Given the description of an element on the screen output the (x, y) to click on. 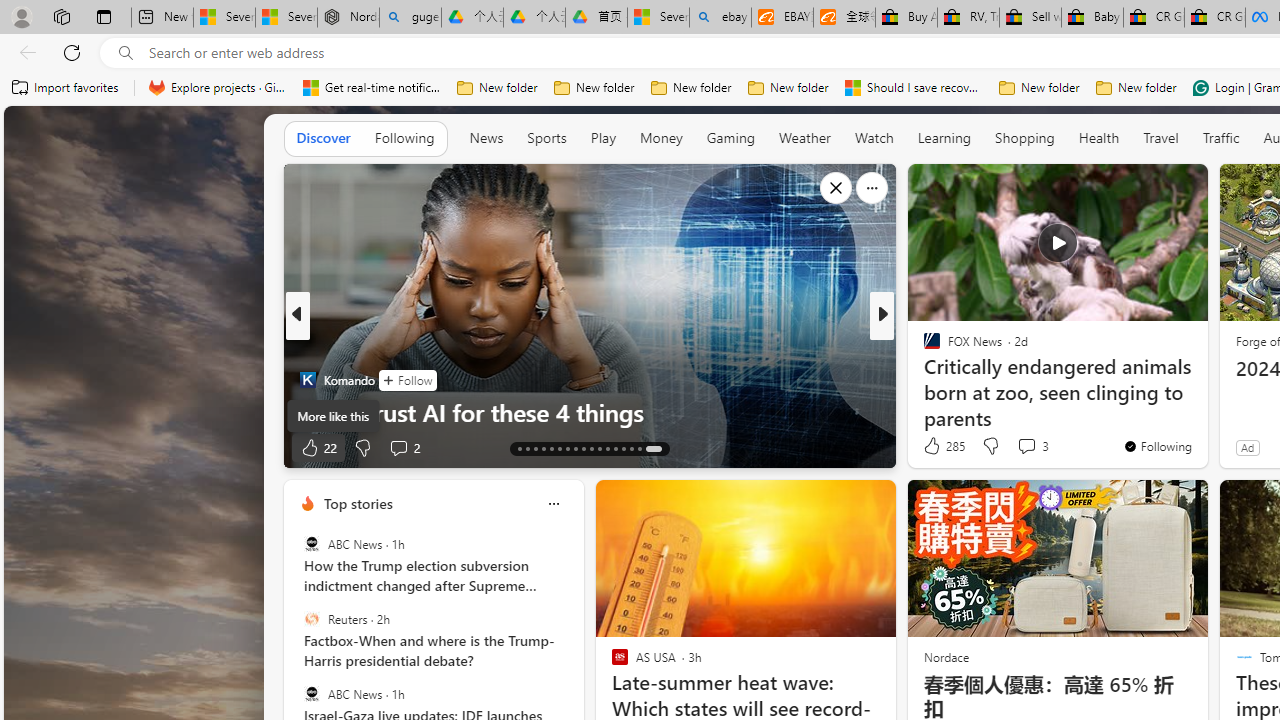
Reuters (311, 619)
Travel (1160, 137)
Hide this story (1147, 187)
